Given the description of an element on the screen output the (x, y) to click on. 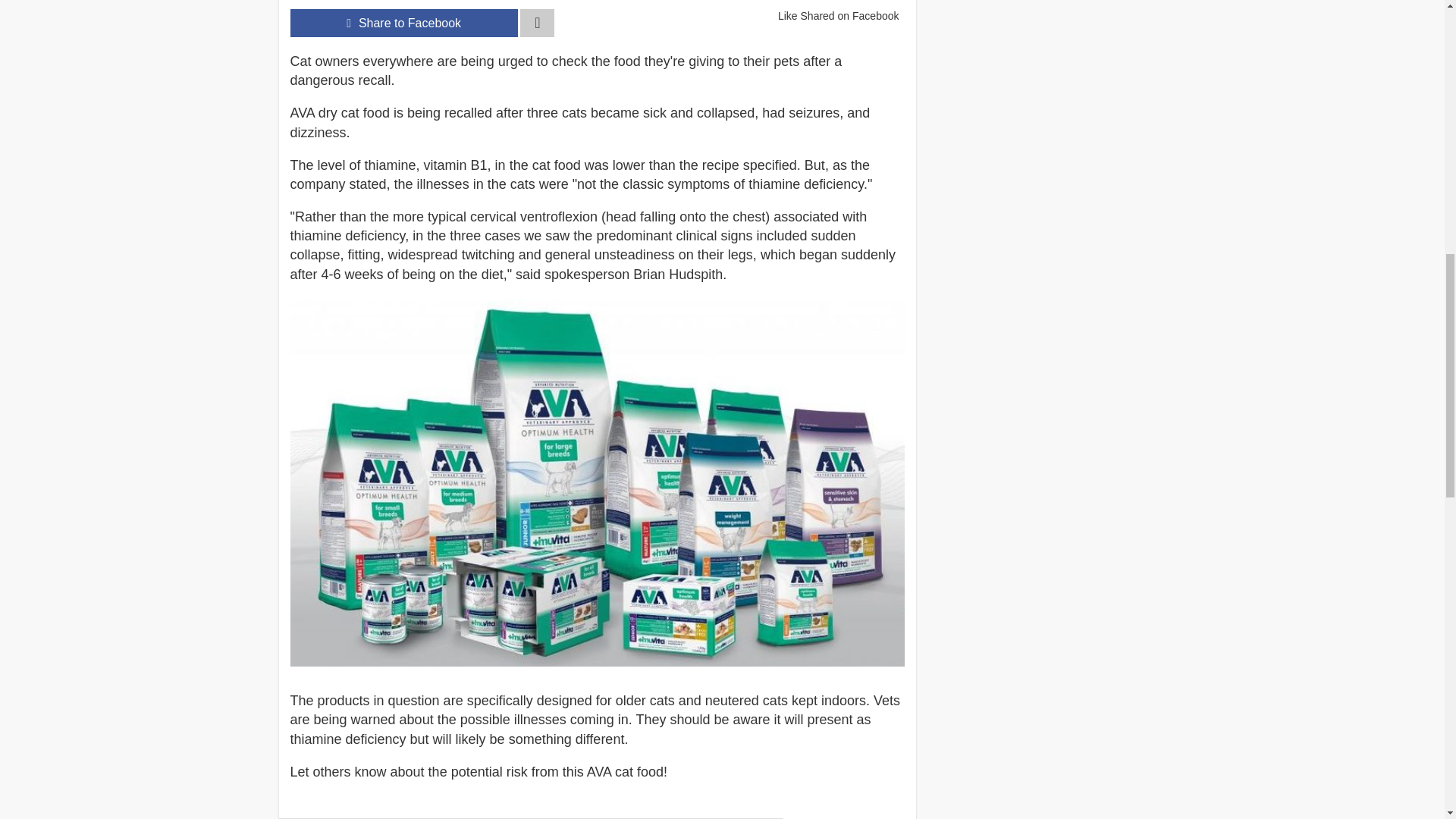
facebook (402, 22)
Toggle navigation (536, 22)
